Given the description of an element on the screen output the (x, y) to click on. 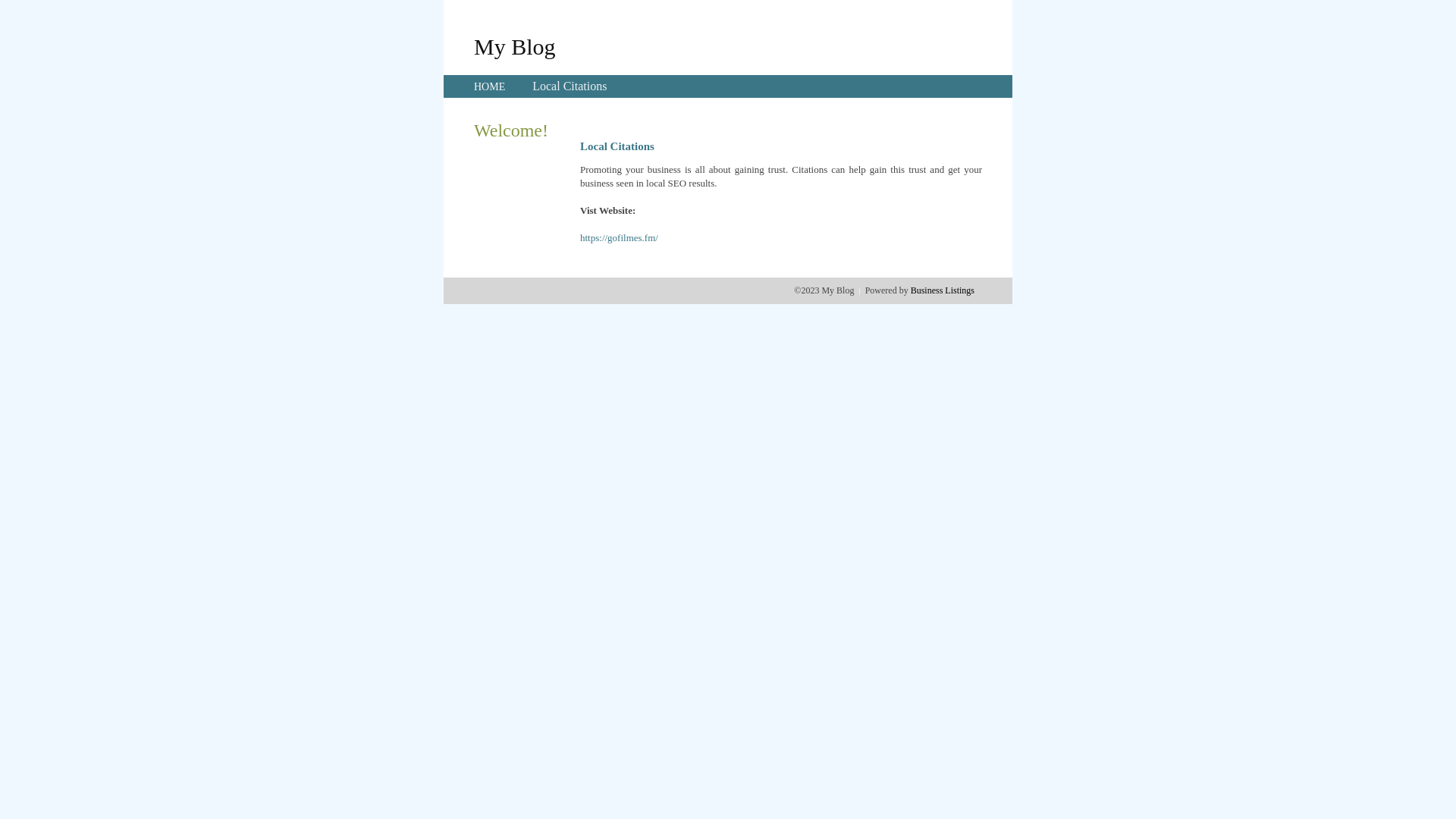
HOME Element type: text (489, 86)
Business Listings Element type: text (942, 290)
https://gofilmes.fm/ Element type: text (619, 237)
My Blog Element type: text (514, 46)
Local Citations Element type: text (569, 85)
